Given the description of an element on the screen output the (x, y) to click on. 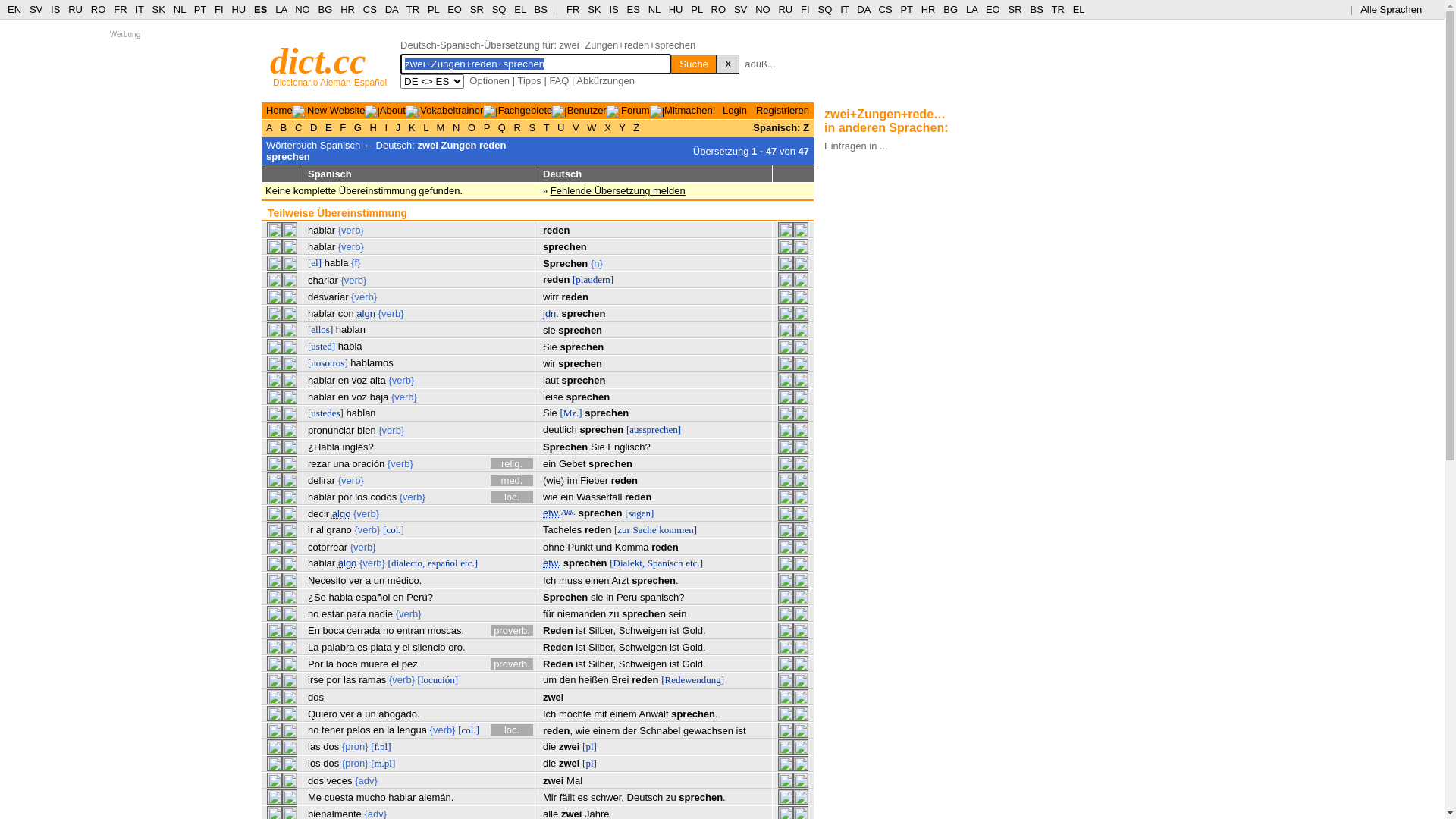
About Element type: text (392, 110)
kommen] Element type: text (677, 529)
Vokabeltrainer Element type: text (451, 110)
bien Element type: text (366, 430)
S Element type: text (532, 127)
Me Element type: text (314, 797)
Sprechen Element type: text (564, 263)
sprechen Element type: text (580, 329)
ir Element type: text (310, 529)
sprechen Element type: text (583, 313)
las Element type: text (313, 746)
hablar Element type: text (321, 246)
un Element type: text (378, 580)
irse Element type: text (315, 679)
boca Element type: text (333, 630)
ES Element type: text (260, 9)
baja Element type: text (379, 396)
einem Element type: text (622, 713)
con Element type: text (346, 313)
R Element type: text (517, 127)
etw. Element type: text (551, 562)
I Element type: text (386, 127)
ist Element type: text (674, 663)
SQ Element type: text (499, 9)
La Element type: text (312, 646)
Necesito Element type: text (326, 580)
RO Element type: text (718, 9)
Forum Element type: text (635, 110)
pelos Element type: text (358, 729)
silencio Element type: text (428, 646)
Arzt Element type: text (619, 580)
der Element type: text (629, 730)
nadie Element type: text (380, 613)
por Element type: text (333, 679)
[aussprechen] Element type: text (653, 429)
Reden Element type: text (557, 630)
dict.cc Element type: text (317, 60)
ver Element type: text (347, 713)
und Element type: text (603, 546)
N Element type: text (455, 127)
delirar Element type: text (321, 480)
LA Element type: text (971, 9)
Schweigen Element type: text (642, 646)
PL Element type: text (433, 9)
loc. Element type: text (511, 496)
ist Element type: text (580, 663)
PT Element type: text (200, 9)
niemanden Element type: text (581, 613)
NO Element type: text (302, 9)
en Element type: text (343, 396)
Z Element type: text (636, 127)
Fieber Element type: text (594, 480)
proverb. Element type: text (511, 630)
Reden Element type: text (557, 663)
E Element type: text (328, 127)
Gold. Element type: text (694, 630)
[pl] Element type: text (589, 746)
la Element type: text (329, 663)
ist Element type: text (580, 646)
Alle Sprachen  Element type: text (1397, 9)
habla Element type: text (336, 262)
DA Element type: text (862, 9)
un Element type: text (369, 713)
hablar Element type: text (321, 396)
SK Element type: text (158, 9)
X Element type: text (608, 127)
sprechen Element type: text (601, 429)
IS Element type: text (613, 9)
ein Element type: text (566, 496)
mucho Element type: text (370, 797)
zu Element type: text (613, 613)
ES Element type: text (633, 9)
etw. Element type: text (551, 512)
J Element type: text (397, 127)
SR Element type: text (476, 9)
[ustedes] Element type: text (325, 412)
sprechen Element type: text (610, 463)
el Element type: text (405, 646)
V Element type: text (575, 127)
no Element type: text (312, 613)
En Element type: text (313, 630)
las Element type: text (349, 679)
Anwalt Element type: text (653, 713)
Tacheles Element type: text (561, 529)
ist Element type: text (580, 630)
voz Element type: text (359, 396)
RO Element type: text (98, 9)
dos Element type: text (330, 762)
Home Element type: text (279, 110)
SQ Element type: text (824, 9)
deutlich Element type: text (559, 429)
FR Element type: text (119, 9)
entran Element type: text (410, 630)
palabra Element type: text (337, 646)
[m.pl] Element type: text (382, 762)
cotorrear Element type: text (327, 546)
Silber, Element type: text (601, 630)
Englisch? Element type: text (628, 446)
en Element type: text (397, 596)
A Element type: text (270, 127)
muere Element type: text (374, 663)
[col.] Element type: text (468, 729)
[usted] Element type: text (321, 345)
gewachsen Element type: text (708, 730)
dos Element type: text (315, 780)
Mal Element type: text (574, 780)
por Element type: text (345, 496)
HU Element type: text (238, 9)
einem Element type: text (606, 730)
hablan Element type: text (350, 329)
X Element type: text (727, 63)
mit Element type: text (599, 713)
wie Element type: text (550, 496)
moscas. Element type: text (445, 630)
boca Element type: text (346, 663)
U Element type: text (560, 127)
TR Element type: text (1057, 9)
zu Element type: text (670, 797)
ohne Element type: text (553, 546)
NL Element type: text (179, 9)
Sprechen Element type: text (564, 596)
Fachgebiete Element type: text (525, 110)
hablar Element type: text (321, 313)
BG Element type: text (325, 9)
algn Element type: text (365, 313)
BS Element type: text (1035, 9)
algo Element type: text (347, 562)
habla Element type: text (350, 345)
Eintragen in ... Element type: text (856, 144)
Mir Element type: text (549, 797)
sie Element type: text (596, 596)
para Element type: text (356, 613)
la Element type: text (390, 729)
Sie Element type: text (549, 412)
PT Element type: text (906, 9)
Spanisch: Z Element type: text (781, 127)
den Element type: text (567, 679)
sprechen Element type: text (581, 346)
spanisch? Element type: text (662, 596)
jdn. Element type: text (550, 313)
SR Element type: text (1015, 9)
Ich Element type: text (548, 580)
ramas Element type: text (371, 679)
hablamos Element type: text (371, 362)
Gebet Element type: text (571, 463)
reden Element type: text (555, 279)
estar Element type: text (332, 613)
reden Element type: text (664, 546)
Benutzer Element type: text (586, 110)
TR Element type: text (412, 9)
[nosotros] Element type: text (327, 362)
Gold. Element type: text (694, 663)
PL Element type: text (696, 9)
Q Element type: text (501, 127)
ist Element type: text (674, 630)
Peru Element type: text (626, 596)
NO Element type: text (762, 9)
SK Element type: text (593, 9)
EL Element type: text (1079, 9)
Suche Element type: text (693, 63)
die Element type: text (548, 746)
hablar Element type: text (321, 229)
Quiero Element type: text (322, 713)
proverb. Element type: text (511, 663)
hablan Element type: text (361, 412)
sein Element type: text (677, 613)
wie Element type: text (582, 730)
H Element type: text (373, 127)
desvariar Element type: text (327, 296)
sprechen Element type: text (580, 363)
Punkt Element type: text (580, 546)
el Element type: text (394, 663)
Registrieren Element type: text (782, 110)
una Element type: text (340, 463)
charlar Element type: text (322, 279)
[ellos] Element type: text (319, 329)
wirr Element type: text (550, 296)
cerrada Element type: text (362, 630)
reden Element type: text (644, 679)
Schnabel Element type: text (659, 730)
no Element type: text (387, 630)
med. Element type: text (511, 480)
[Redewendung] Element type: text (692, 679)
[col.] Element type: text (393, 529)
muss Element type: text (570, 580)
sprechen Element type: text (606, 412)
FI Element type: text (218, 9)
ein Element type: text (548, 463)
G Element type: text (357, 127)
Spanisch Element type: text (665, 562)
no Element type: text (312, 729)
algo Element type: text (341, 513)
sprechen Element type: text (585, 562)
decir Element type: text (318, 513)
Mitmachen! Element type: text (689, 110)
Reden Element type: text (557, 646)
New Website Element type: text (335, 110)
Komma Element type: text (632, 546)
veces Element type: text (339, 780)
los Element type: text (313, 762)
laut Element type: text (550, 379)
NL Element type: text (654, 9)
EL Element type: text (519, 9)
Deutsch Element type: text (645, 797)
Por Element type: text (315, 663)
FAQ Element type: text (558, 80)
en Element type: text (343, 379)
O Element type: text (470, 127)
pronunciar Element type: text (330, 430)
RU Element type: text (785, 9)
al Element type: text (319, 529)
tener Element type: text (332, 729)
codos Element type: text (383, 496)
sprechen Element type: text (587, 396)
Silber, Element type: text (601, 646)
Sie Element type: text (597, 446)
IT Element type: text (138, 9)
HR Element type: text (928, 9)
SV Element type: text (740, 9)
[f.pl] Element type: text (380, 746)
sprechen. Element type: text (694, 713)
F Element type: text (342, 127)
D Element type: text (313, 127)
reden Element type: text (574, 296)
FR Element type: text (572, 9)
zwei Element type: text (552, 696)
dos Element type: text (315, 696)
B Element type: text (283, 127)
rezar Element type: text (318, 463)
wir Element type: text (548, 363)
dos Element type: text (330, 746)
T Element type: text (546, 127)
RU Element type: text (75, 9)
es Element type: text (362, 646)
leise Element type: text (552, 396)
Wasserfall Element type: text (598, 496)
[sagen] Element type: text (638, 512)
Login Element type: text (734, 110)
Gold. Element type: text (694, 646)
die Element type: text (548, 762)
etc.] Element type: text (693, 562)
sprechen Element type: text (564, 246)
cuesta Element type: text (338, 797)
BS Element type: text (540, 9)
zwei Element type: text (552, 780)
reden, Element type: text (557, 730)
reden Element type: text (555, 229)
abogado. Element type: text (398, 713)
sprechen. Element type: text (654, 580)
loc. Element type: text (511, 729)
los Element type: text (360, 496)
Brei Element type: text (619, 679)
reden Element type: text (637, 496)
reden Element type: text (624, 480)
SV Element type: text (35, 9)
oro. Element type: text (456, 646)
Schweigen Element type: text (642, 630)
P Element type: text (486, 127)
etc.] Element type: text (468, 562)
HR Element type: text (347, 9)
sprechen Element type: text (600, 512)
K Element type: text (411, 127)
Sache Element type: text (644, 529)
ist Element type: text (674, 646)
[pl] Element type: text (589, 762)
[Dialekt, Element type: text (626, 562)
EO Element type: text (992, 9)
[dialecto, Element type: text (406, 562)
schwer, Element type: text (607, 797)
grano Element type: text (338, 529)
HU Element type: text (675, 9)
BG Element type: text (950, 9)
[el] Element type: text (314, 262)
zwei Element type: text (568, 762)
CS Element type: text (884, 9)
alta Element type: text (377, 379)
hablar Element type: text (401, 797)
LA Element type: text (280, 9)
in Element type: text (609, 596)
W Element type: text (591, 127)
Y Element type: text (621, 127)
voz Element type: text (359, 379)
M Element type: text (440, 127)
pez. Element type: text (410, 663)
hablar Element type: text (321, 496)
Optionen Element type: text (489, 80)
Sie Element type: text (549, 346)
Schweigen Element type: text (642, 663)
im Element type: text (572, 480)
hablar Element type: text (321, 379)
Ich Element type: text (548, 713)
es Element type: text (582, 797)
plata Element type: text (380, 646)
sprechen Element type: text (583, 379)
sie Element type: text (548, 329)
ver Element type: text (355, 580)
(wie) Element type: text (553, 480)
ist Element type: text (741, 730)
habla Element type: text (340, 596)
sprechen Element type: text (643, 613)
sprechen. Element type: text (701, 797)
C Element type: text (297, 127)
einen Element type: text (597, 580)
EO Element type: text (454, 9)
CS Element type: text (369, 9)
[plaudern] Element type: text (592, 279)
Sprechen Element type: text (564, 446)
zwei Element type: text (568, 746)
um Element type: text (549, 679)
lengua Element type: text (411, 729)
hablar Element type: text (321, 562)
IT Element type: text (844, 9)
FI Element type: text (804, 9)
Silber, Element type: text (601, 663)
EN Element type: text (14, 9)
relig. Element type: text (511, 463)
reden Element type: text (597, 529)
en Element type: text (378, 729)
[zur Element type: text (622, 529)
DA Element type: text (391, 9)
[Mz.] Element type: text (570, 412)
IS Element type: text (54, 9)
Tipps Element type: text (528, 80)
L Element type: text (425, 127)
